Given the description of an element on the screen output the (x, y) to click on. 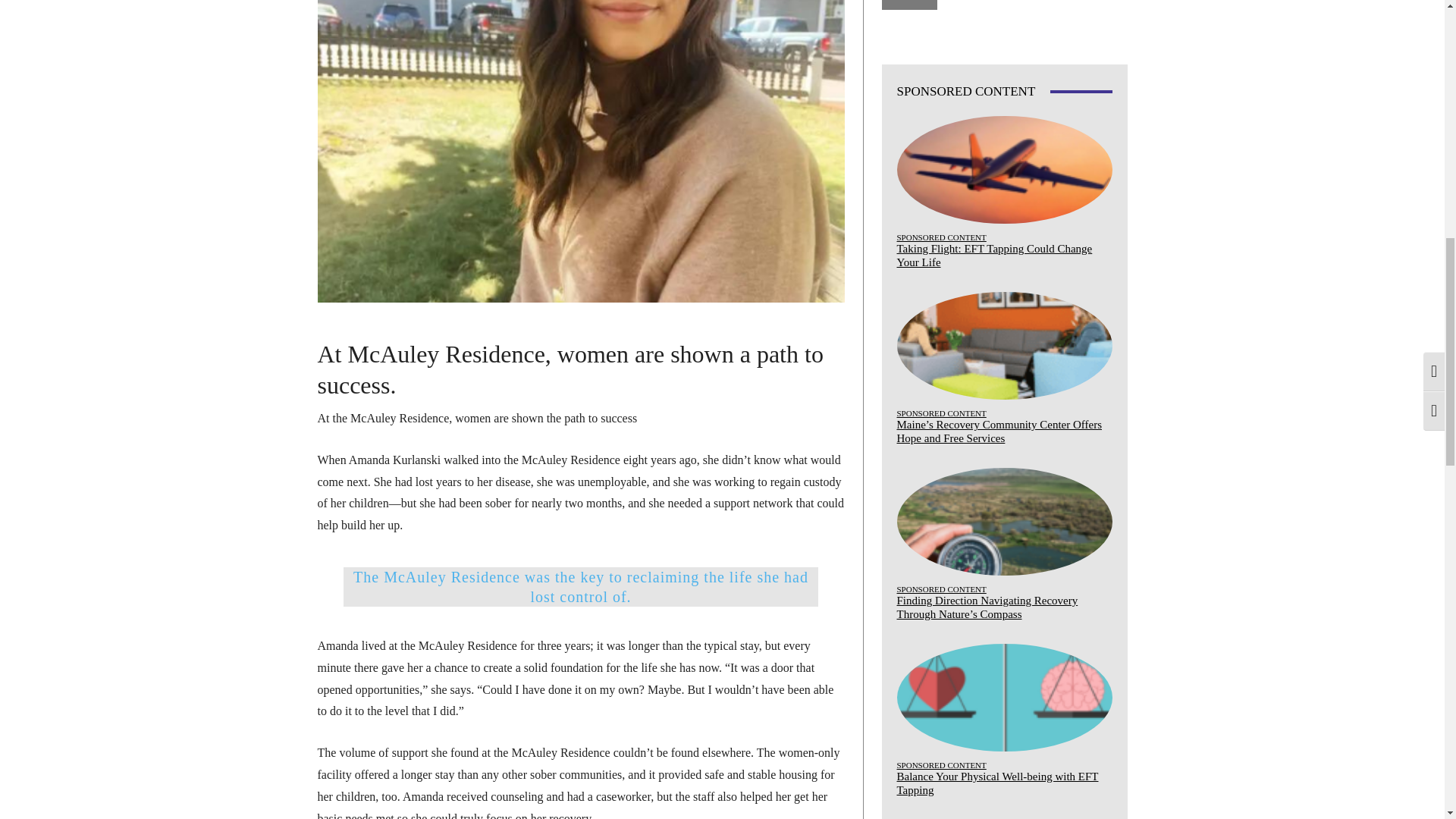
Join Us (908, 5)
